Given the description of an element on the screen output the (x, y) to click on. 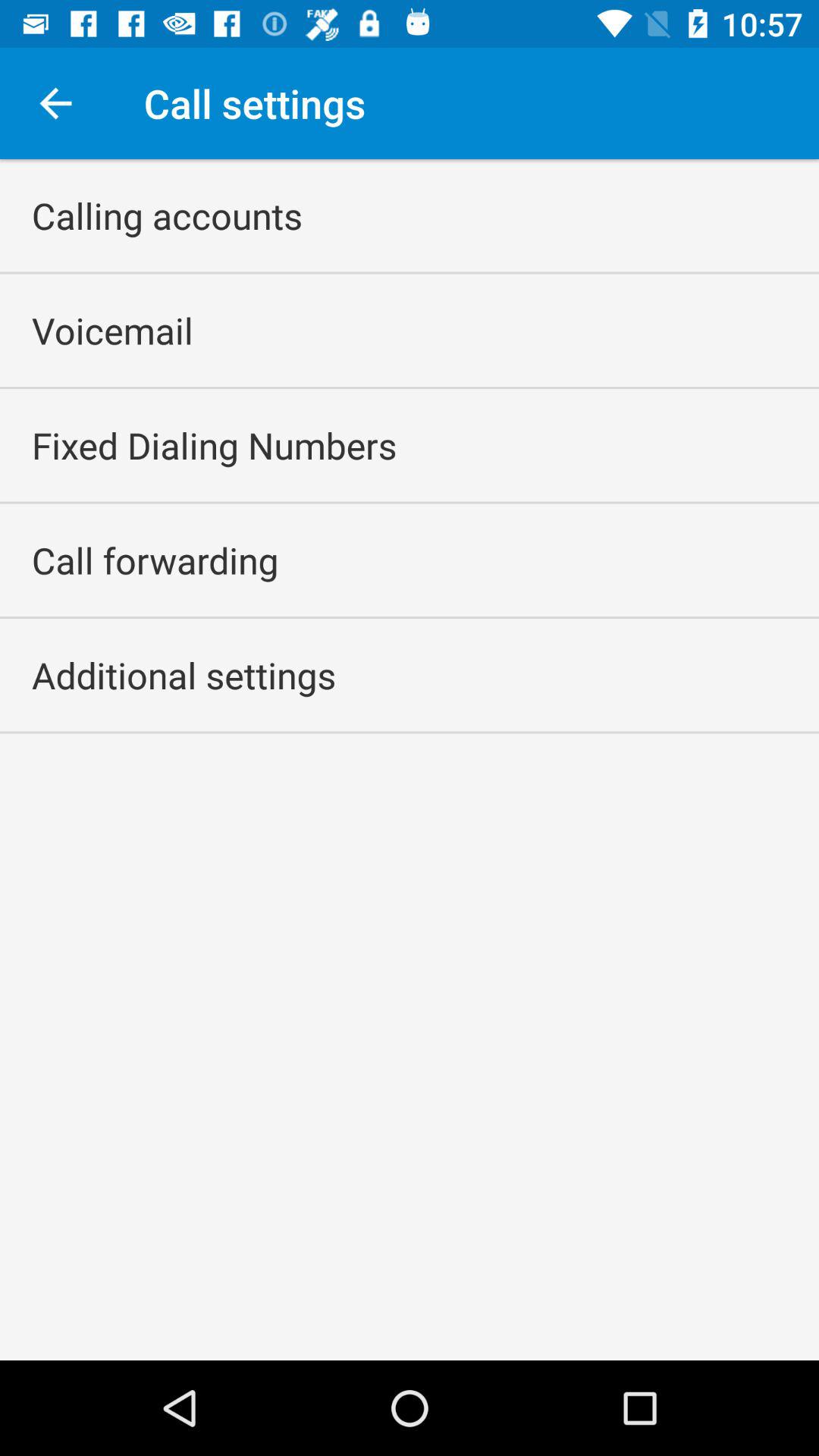
choose item above the call forwarding icon (213, 444)
